Given the description of an element on the screen output the (x, y) to click on. 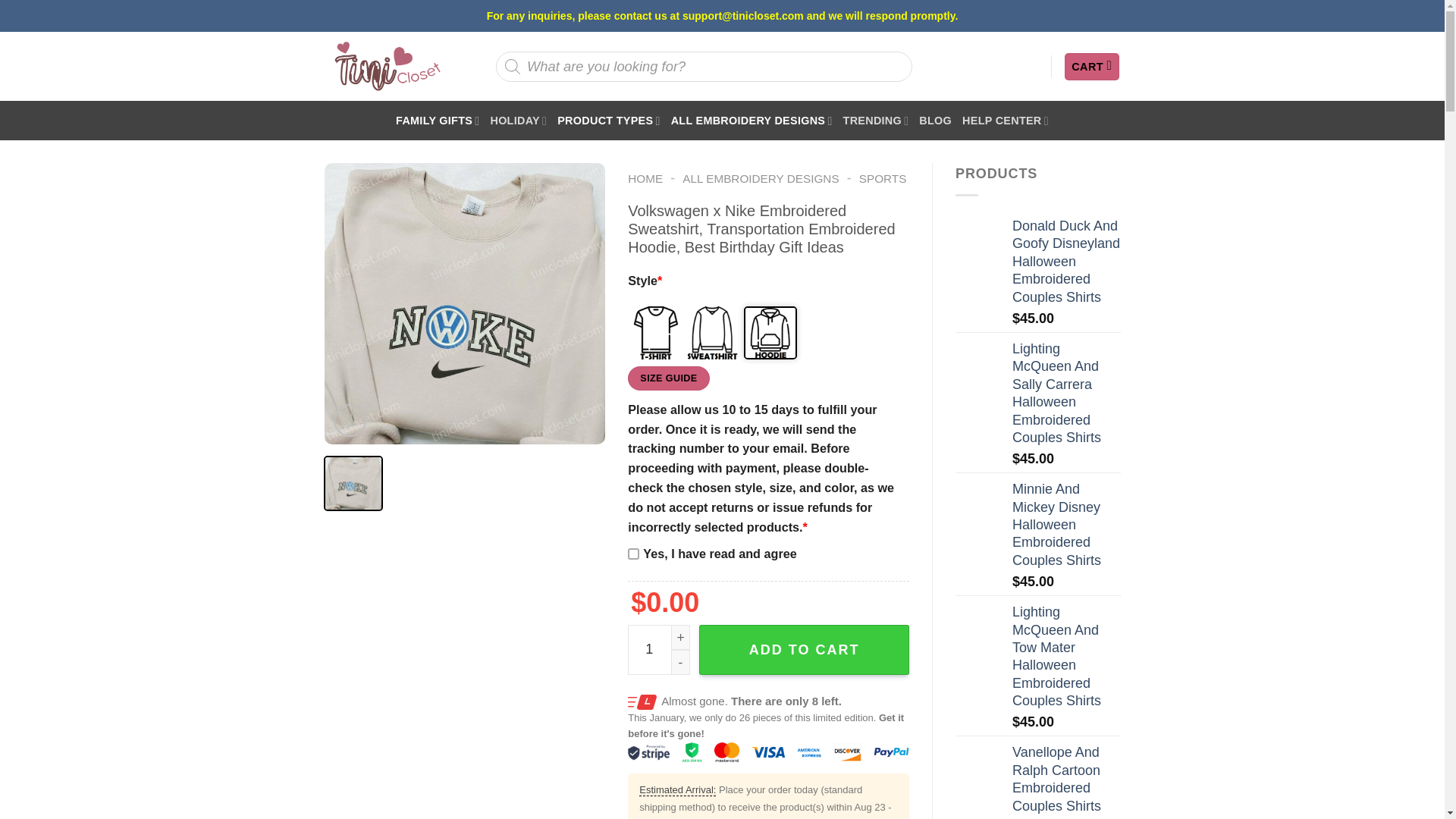
- (680, 662)
CART (1091, 67)
HOLIDAY (518, 120)
1 (658, 649)
PRODUCT TYPES (608, 120)
FAMILY GIFTS (437, 120)
Cart (1091, 67)
ALL EMBROIDERY DESIGNS (751, 120)
Small Gifts Great Love (386, 66)
